Given the description of an element on the screen output the (x, y) to click on. 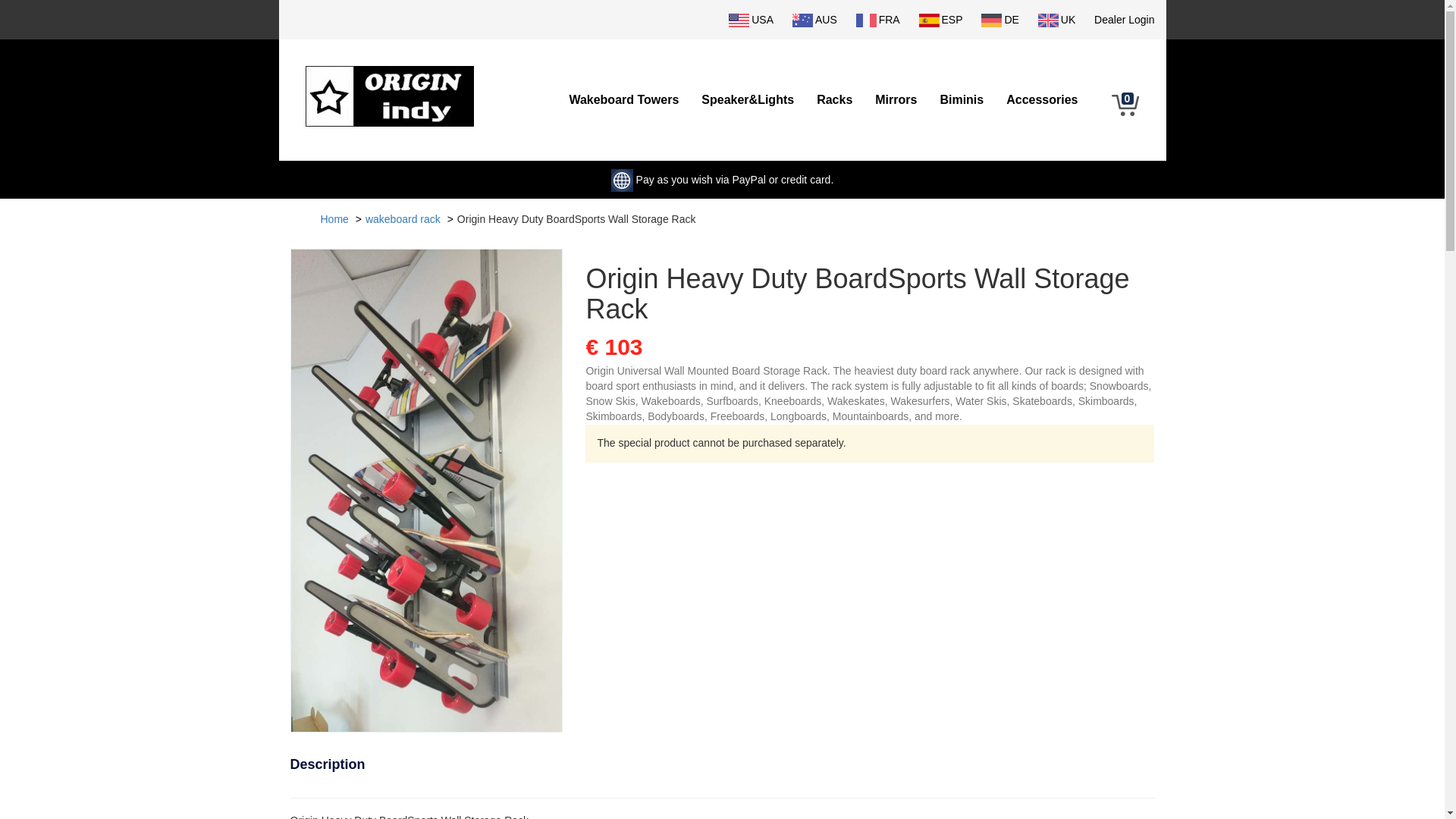
Origin Wakeboard Towers ESP (943, 19)
Boardoutlets Dealer Login (1124, 19)
Biminis (961, 100)
Wakeboard Towers (623, 100)
Origin Wakeboard Towers DE (1002, 19)
0 (1126, 106)
Origin Wakeboard Towers FRA (880, 19)
UK (1059, 19)
Home (333, 218)
Origin Wakeboard Towers (388, 85)
Accessories (1041, 100)
USA (753, 19)
ESP (943, 19)
Wakeboard Towers (623, 100)
wakeboard tower bimini (961, 100)
